Given the description of an element on the screen output the (x, y) to click on. 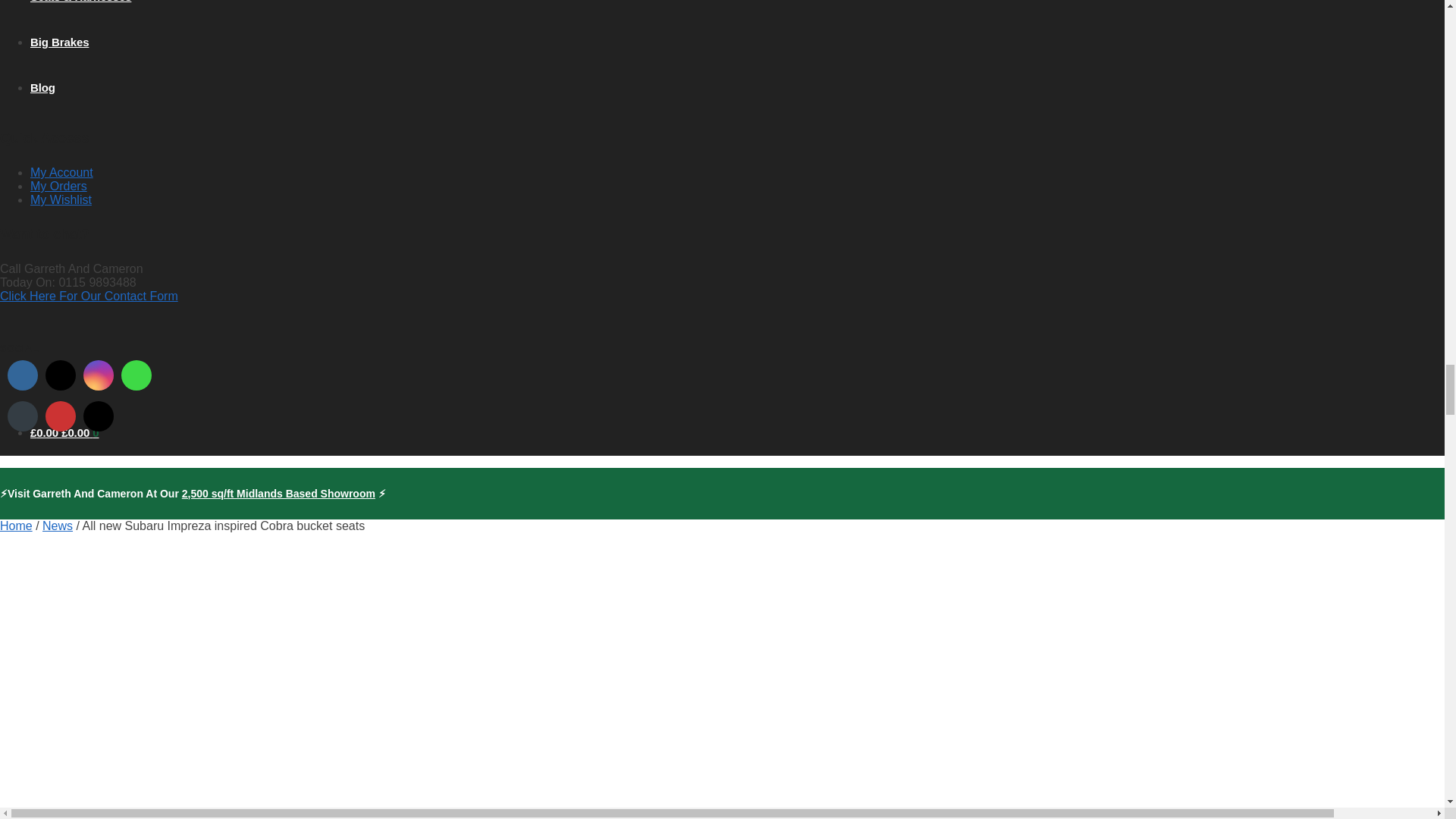
Tiktok (98, 416)
View your shopping cart (64, 431)
Twitter (60, 375)
With tax added (45, 431)
With tax removed (74, 431)
WhatsApp (136, 375)
Facebook (22, 375)
Follow by Email (22, 416)
Instagram (98, 375)
